Given the description of an element on the screen output the (x, y) to click on. 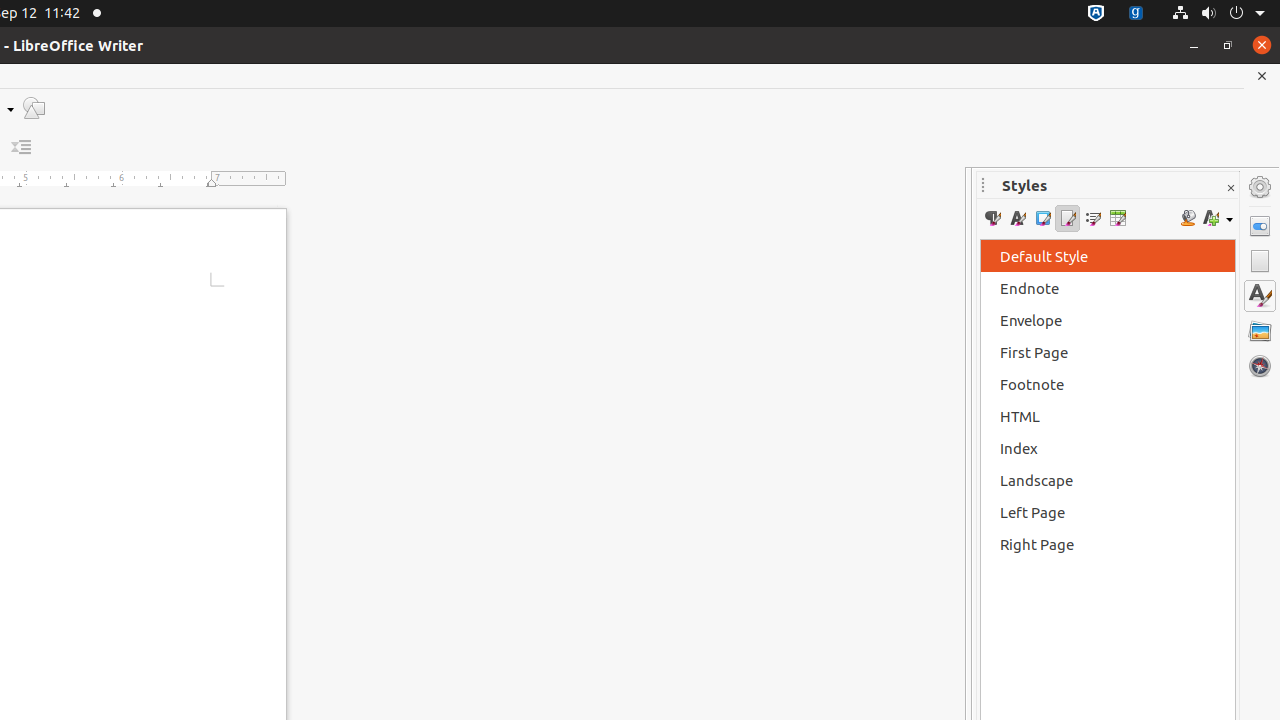
System Element type: menu (1218, 13)
org.kde.StatusNotifierItem-14077-1 Element type: menu (1136, 13)
Character Styles Element type: push-button (1017, 218)
Decrease Element type: push-button (21, 147)
Frame Styles Element type: push-button (1042, 218)
